Given the description of an element on the screen output the (x, y) to click on. 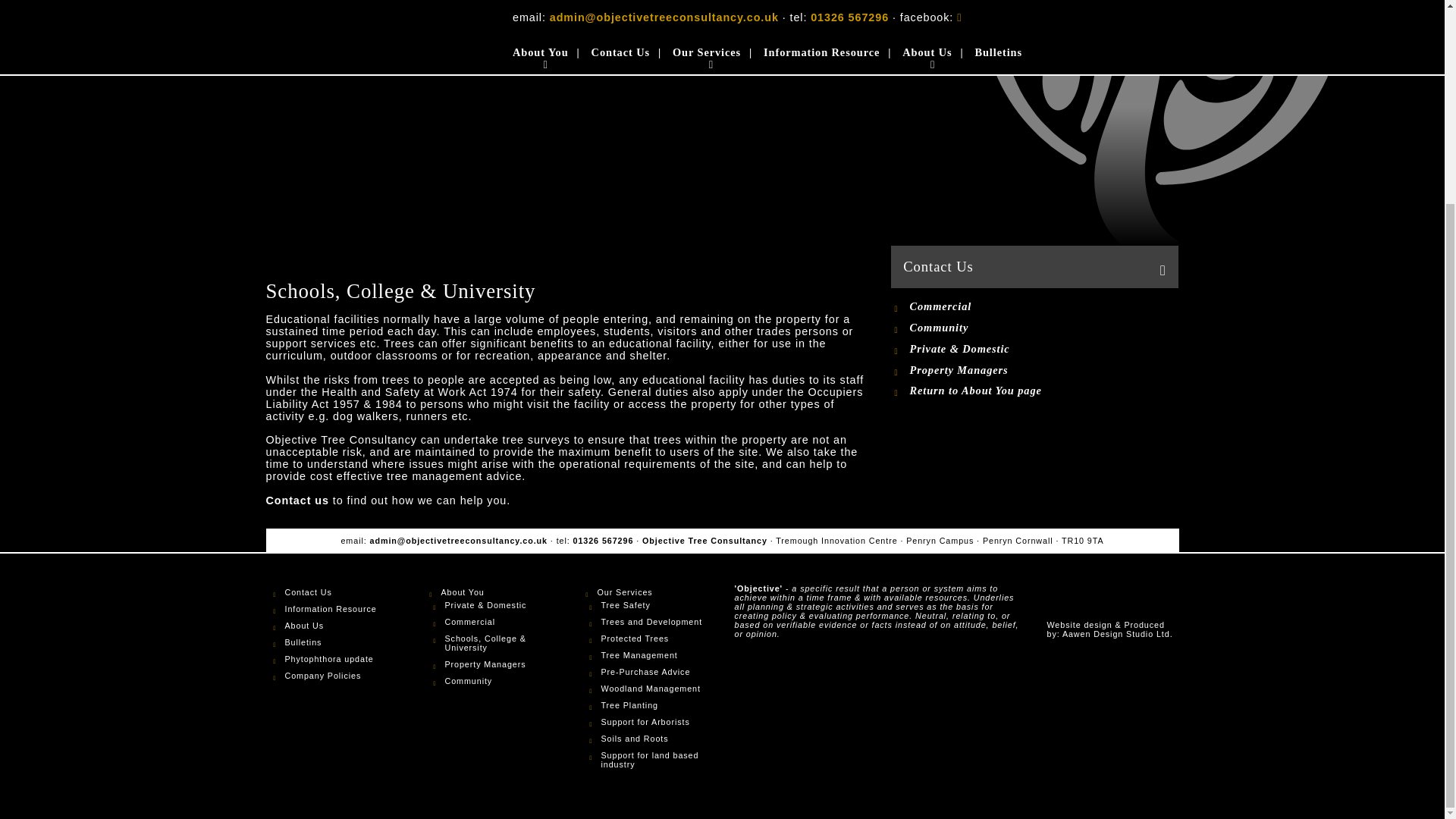
Bulletins (331, 642)
Return to About You page (965, 390)
Property Managers (949, 369)
Email Us (458, 540)
Community (949, 327)
Aawen Design Studio Ltd (1117, 633)
Objective Tree Consultancy (1162, 124)
Information Resource (331, 608)
01326 567296 (603, 540)
Objective Tree Consultancy (1111, 599)
Contact us (296, 500)
About Us (331, 624)
Commercial (949, 306)
Call Us (603, 540)
Contact Us (331, 592)
